Given the description of an element on the screen output the (x, y) to click on. 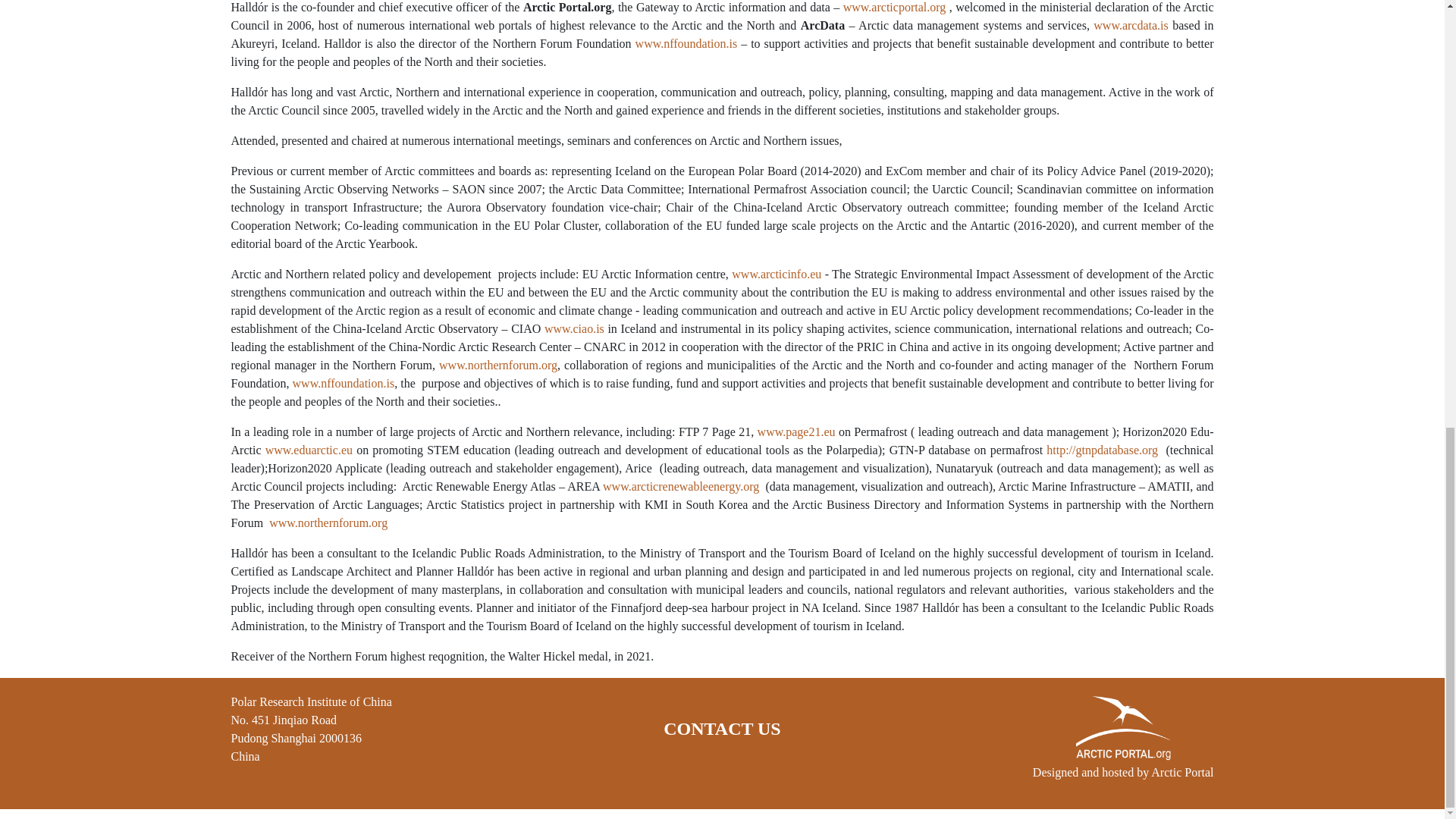
www.arcticportal.org (894, 6)
www.nffoundation.is (343, 382)
Arctic Portal (1181, 771)
Arctic Portal (1181, 771)
www.arcticrenewableenergy.org (680, 486)
www.nffoundation.is (686, 42)
www.eduarctic.eu (308, 449)
www.ciao.is (574, 328)
CONTACT US (721, 728)
www.northernforum.org (328, 522)
